Given the description of an element on the screen output the (x, y) to click on. 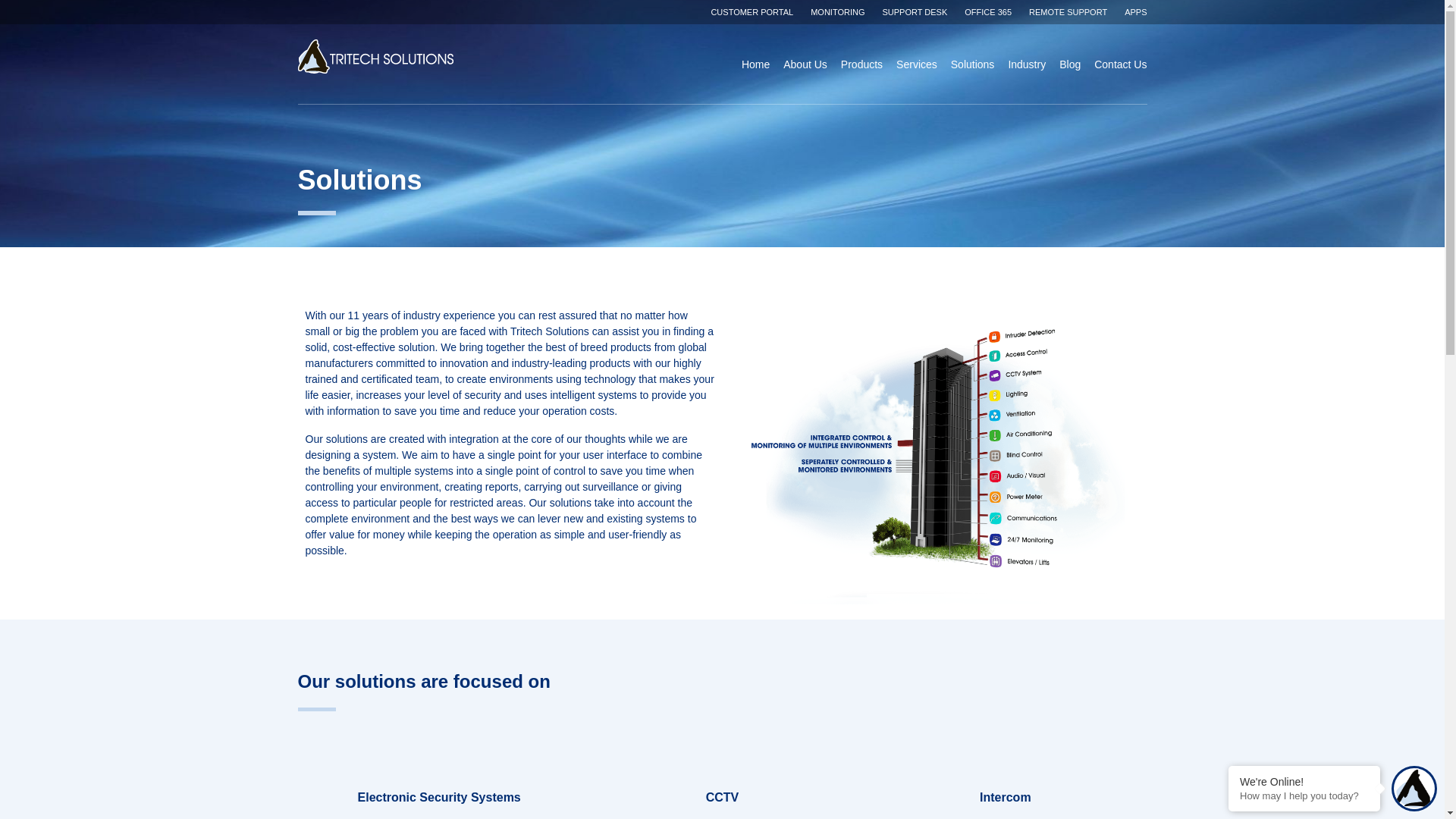
Home (755, 63)
APPS (1135, 11)
OFFICE 365 (987, 11)
Industry (1026, 63)
Products (861, 63)
MONITORING (837, 11)
About Us (805, 63)
CUSTOMER PORTAL (751, 11)
We're Online! (1304, 781)
Solutions (972, 63)
REMOTE SUPPORT (1067, 11)
Services (916, 63)
How may I help you today? (1304, 795)
SUPPORT DESK (914, 11)
